Given the description of an element on the screen output the (x, y) to click on. 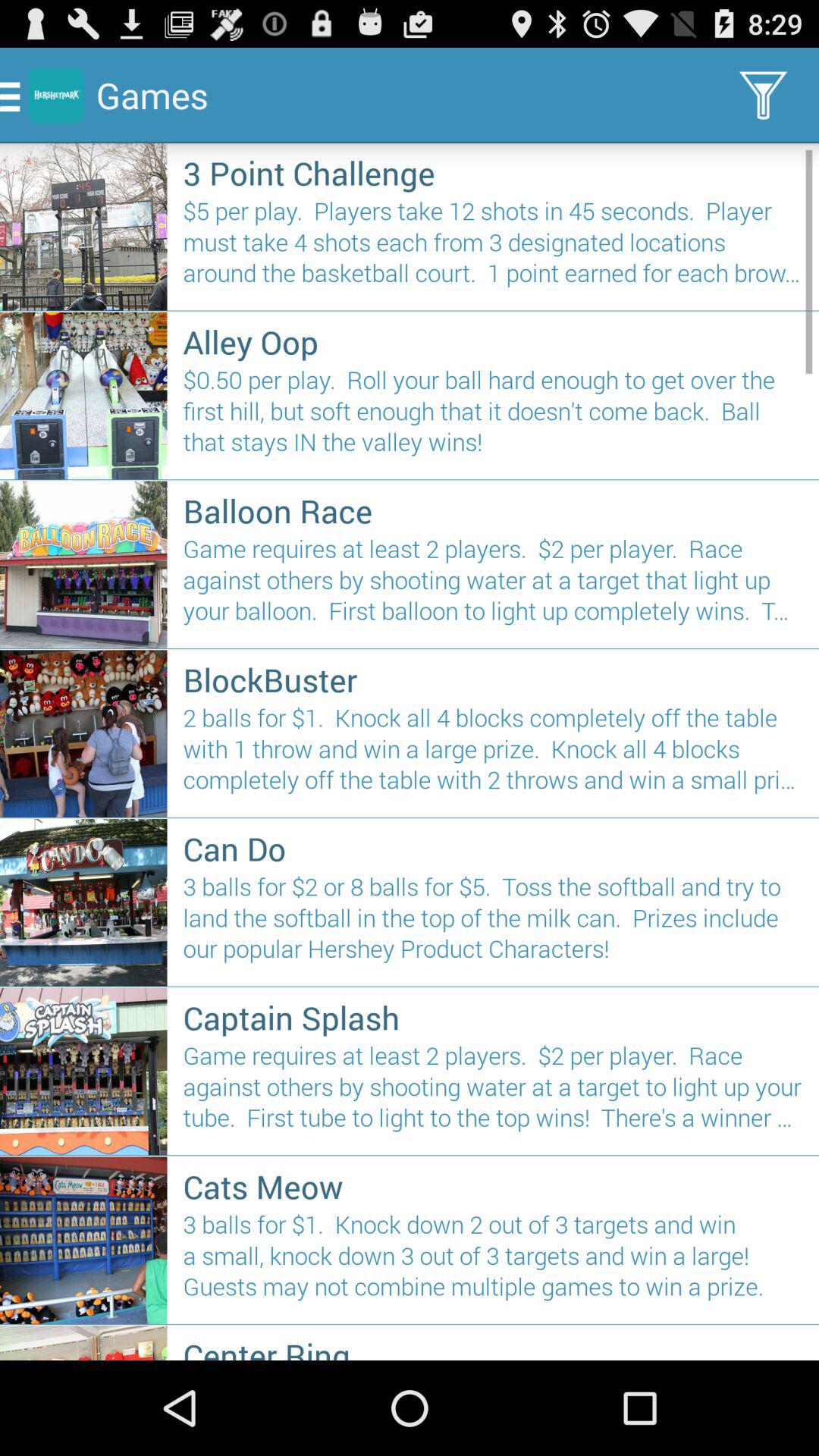
launch the item above the 2 balls for (493, 679)
